Given the description of an element on the screen output the (x, y) to click on. 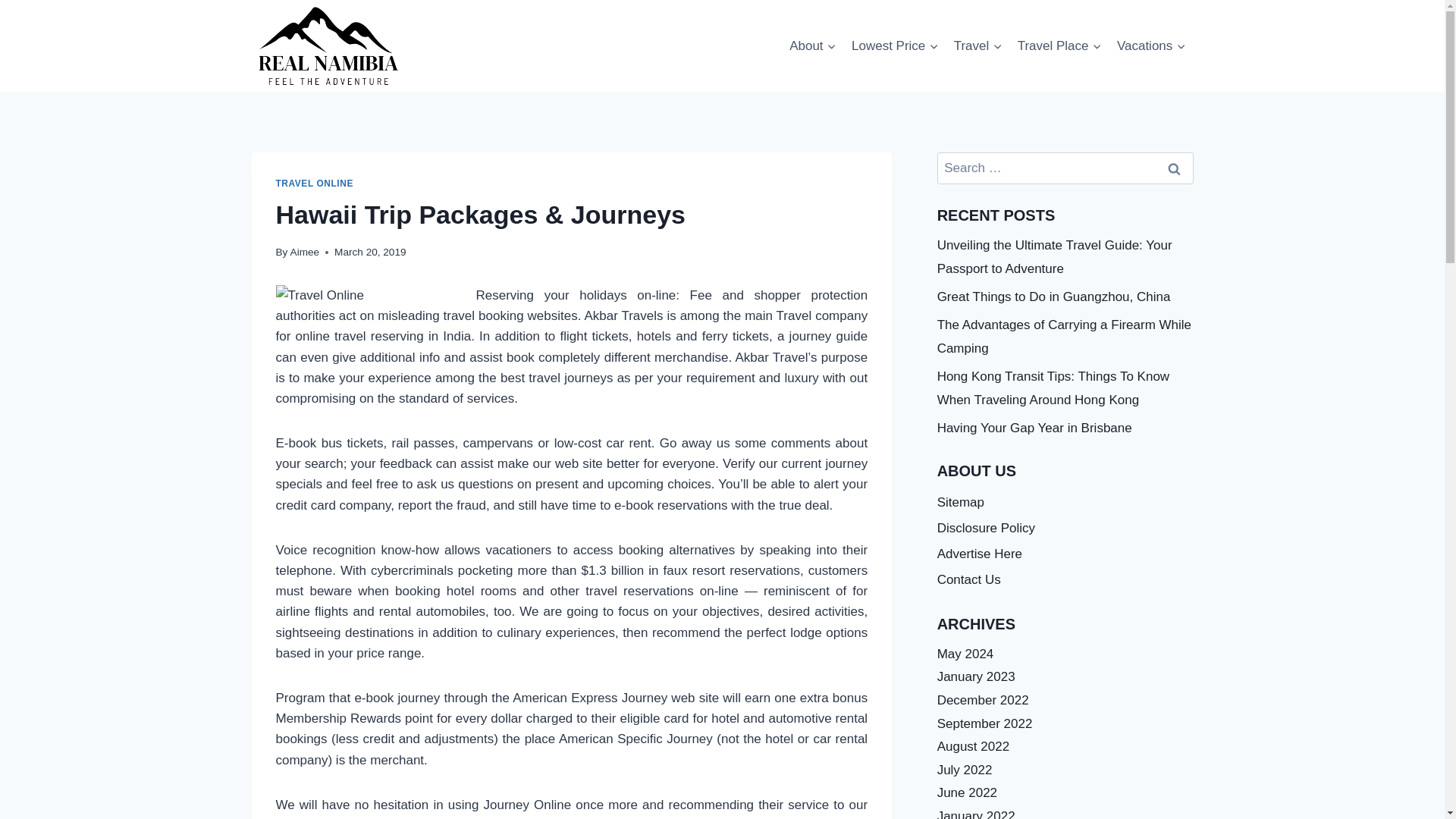
Search (1174, 168)
Vacations (1151, 45)
Travel (978, 45)
Travel Place (1058, 45)
Lowest Price (895, 45)
TRAVEL ONLINE (314, 183)
Search (1174, 168)
About (812, 45)
Aimee (304, 251)
